Given the description of an element on the screen output the (x, y) to click on. 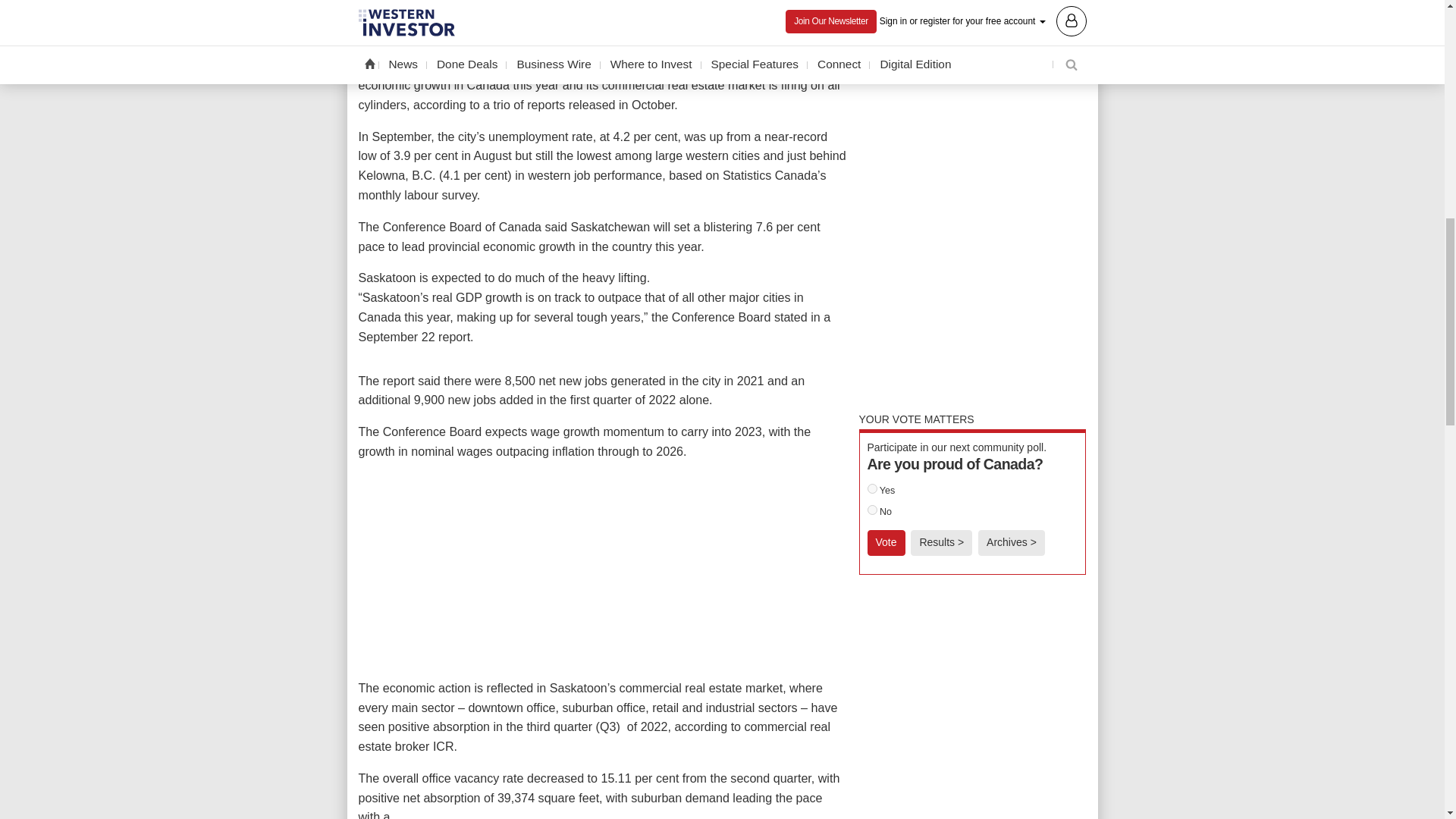
122183 (872, 510)
122182 (872, 488)
